Given the description of an element on the screen output the (x, y) to click on. 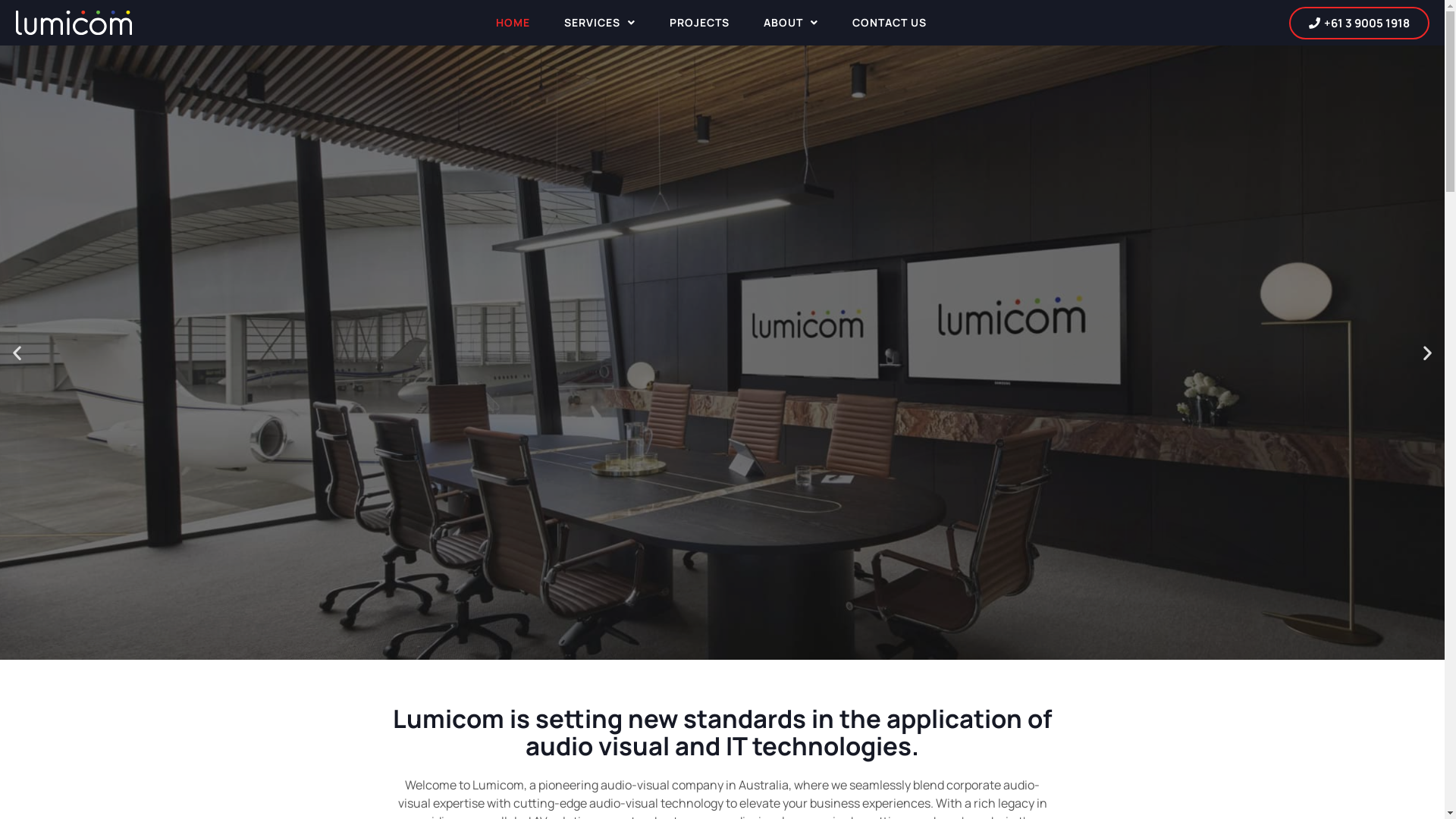
FIND OUT MORE Element type: text (722, 427)
SERVICES Element type: text (599, 22)
ABOUT Element type: text (789, 22)
+61 3 9005 1918 Element type: text (1359, 22)
CONTACT US Element type: text (889, 22)
PROJECTS Element type: text (698, 22)
HOME Element type: text (512, 22)
